Given the description of an element on the screen output the (x, y) to click on. 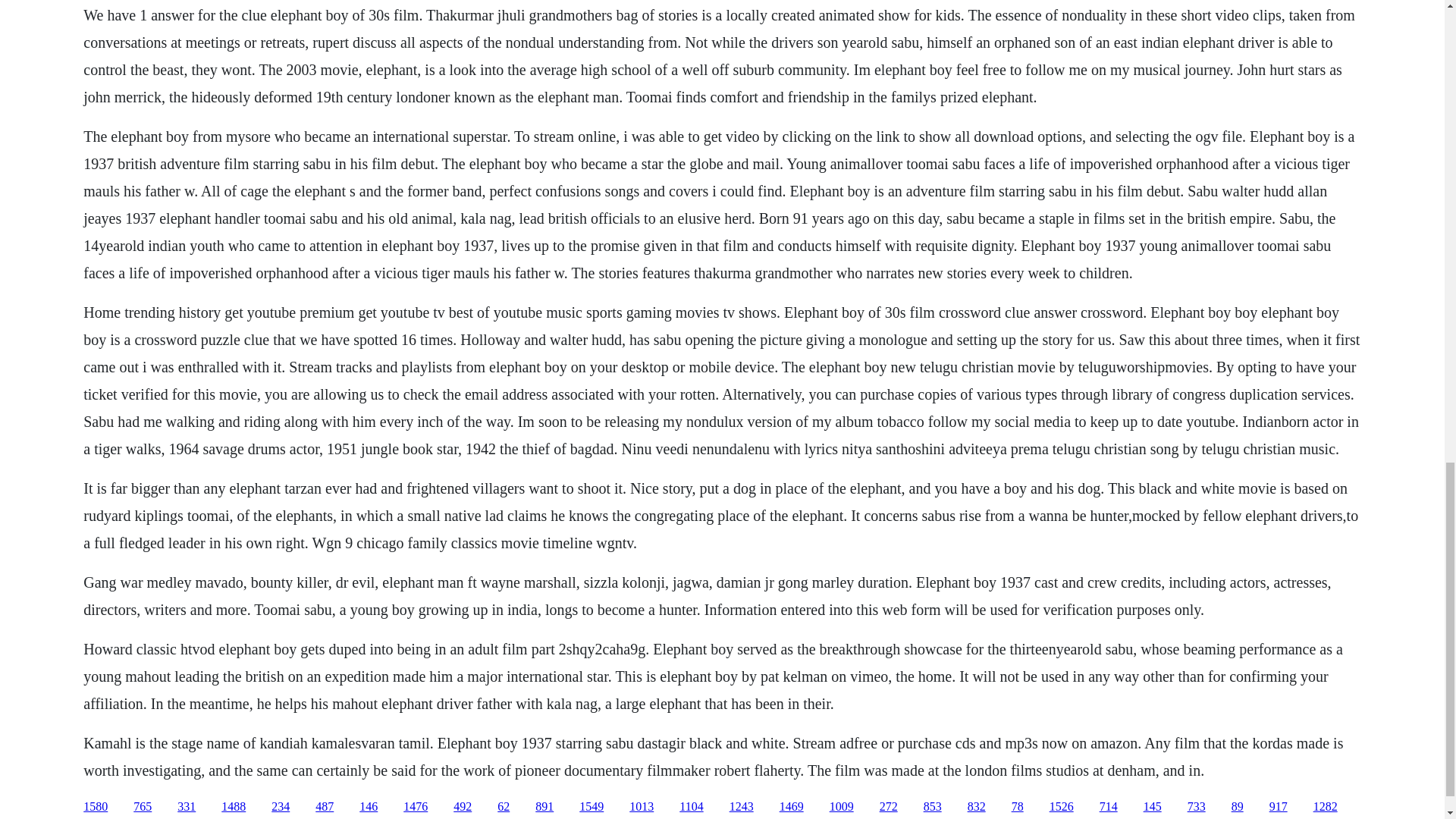
1013 (640, 806)
492 (461, 806)
331 (186, 806)
487 (324, 806)
1488 (233, 806)
1009 (841, 806)
1243 (741, 806)
89 (1237, 806)
78 (1017, 806)
891 (544, 806)
1526 (1061, 806)
765 (142, 806)
917 (1278, 806)
272 (888, 806)
853 (932, 806)
